Given the description of an element on the screen output the (x, y) to click on. 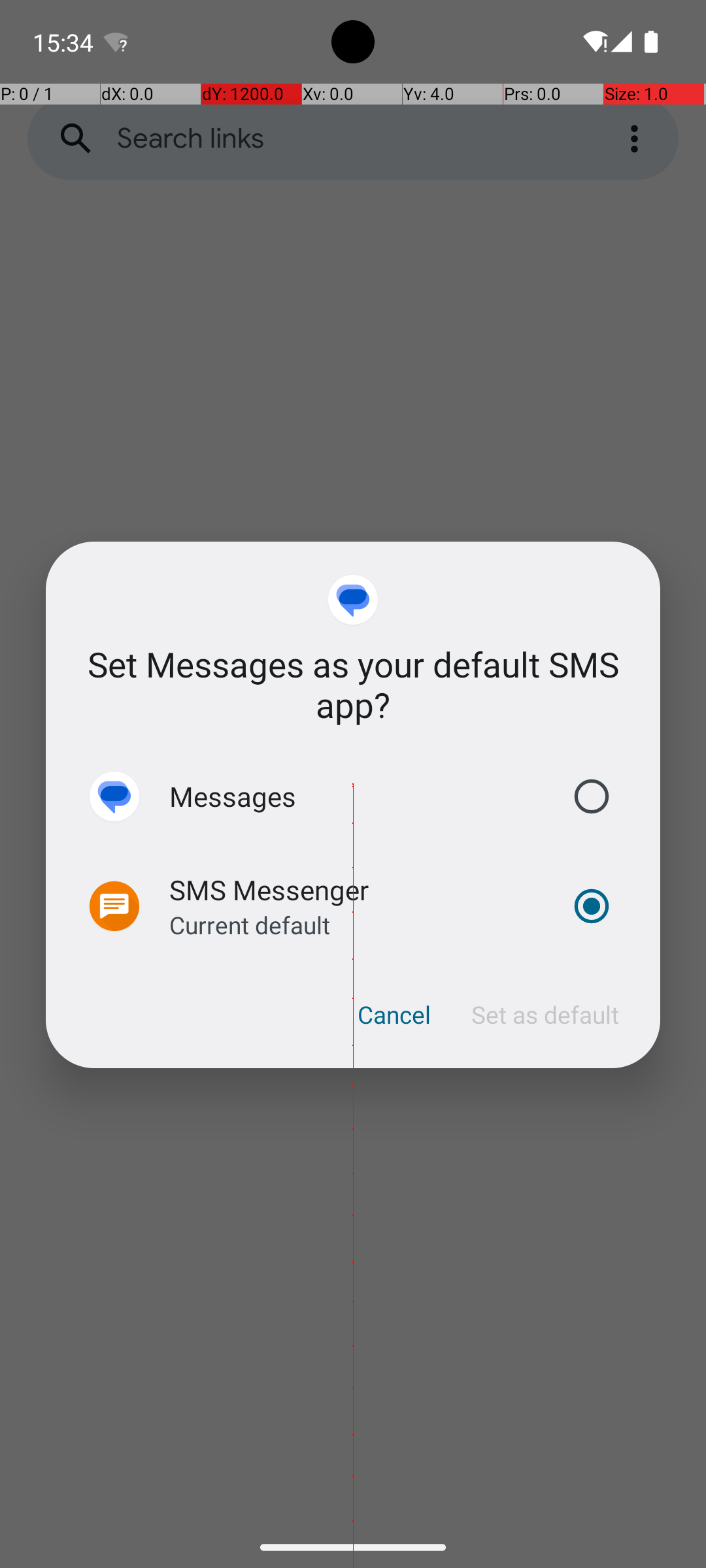
Set Messages as your default SMS app? Element type: android.widget.TextView (352, 683)
Set as default Element type: android.widget.Button (545, 1014)
Current default Element type: android.widget.TextView (249, 924)
